Given the description of an element on the screen output the (x, y) to click on. 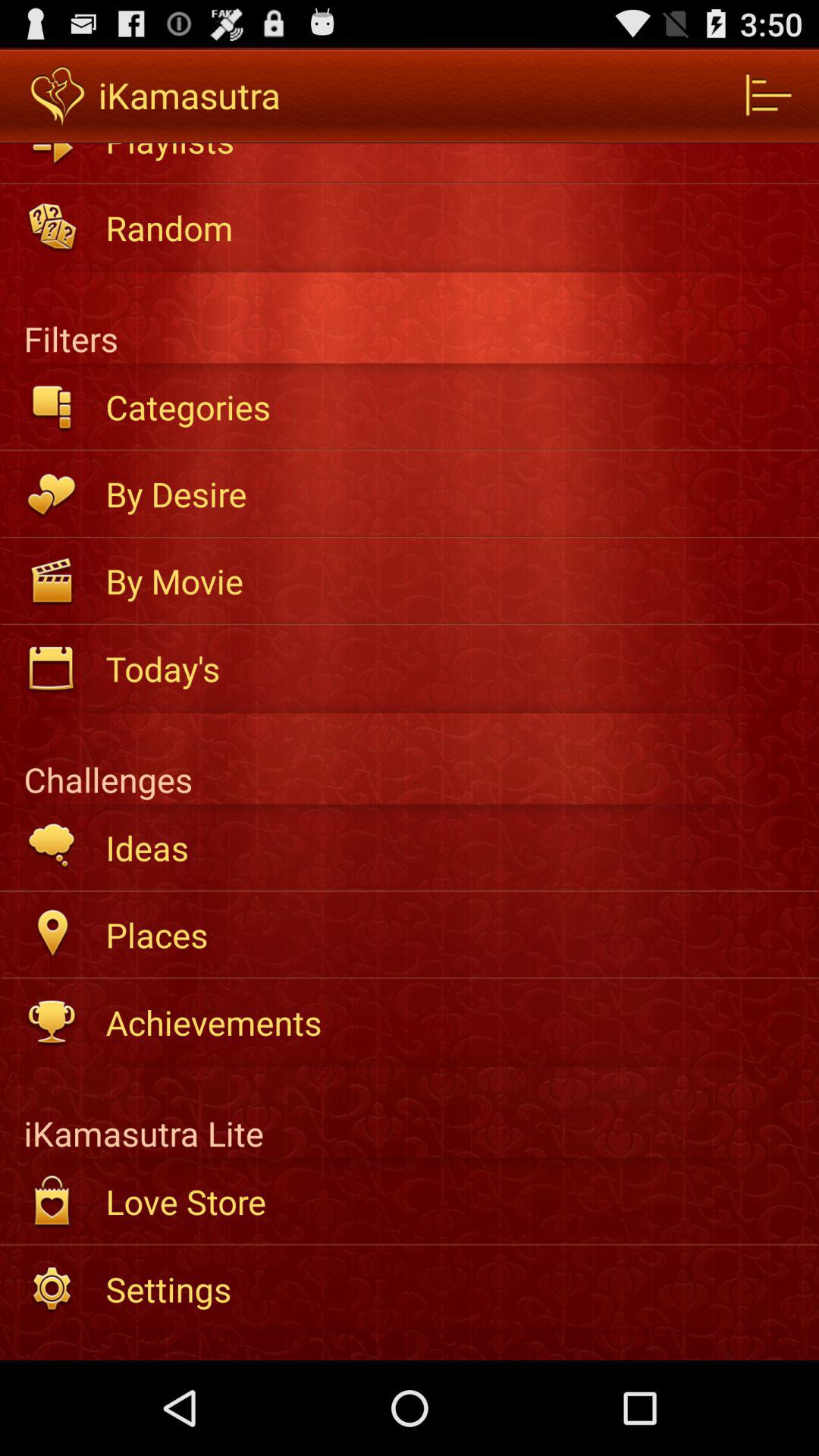
choose the challenges item (409, 758)
